Given the description of an element on the screen output the (x, y) to click on. 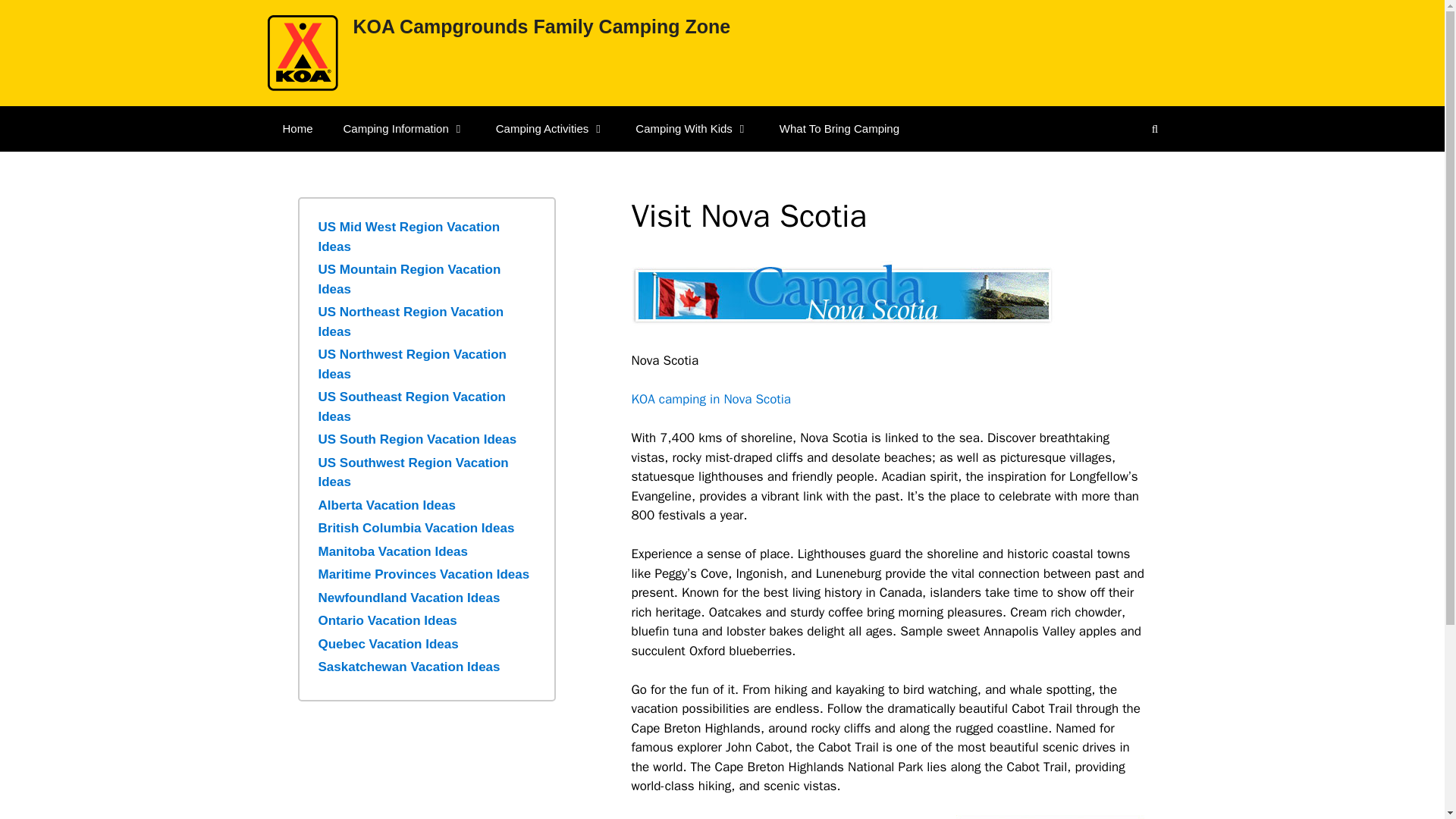
Alberta Vacation Ideas (386, 504)
US Southeast Region Vacation Ideas (412, 406)
KOA camping in Nova Scotia (710, 399)
US Mountain Region Vacation Ideas (409, 279)
Ontario Vacation Ideas (387, 620)
Manitoba Vacation Ideas (392, 551)
Nova Scotia Photo - KOA Campgrounds Family Camping Zone (1051, 816)
Camping With Kids (692, 128)
US Southwest Region Vacation Ideas (413, 471)
Camping Information (404, 128)
